Given the description of an element on the screen output the (x, y) to click on. 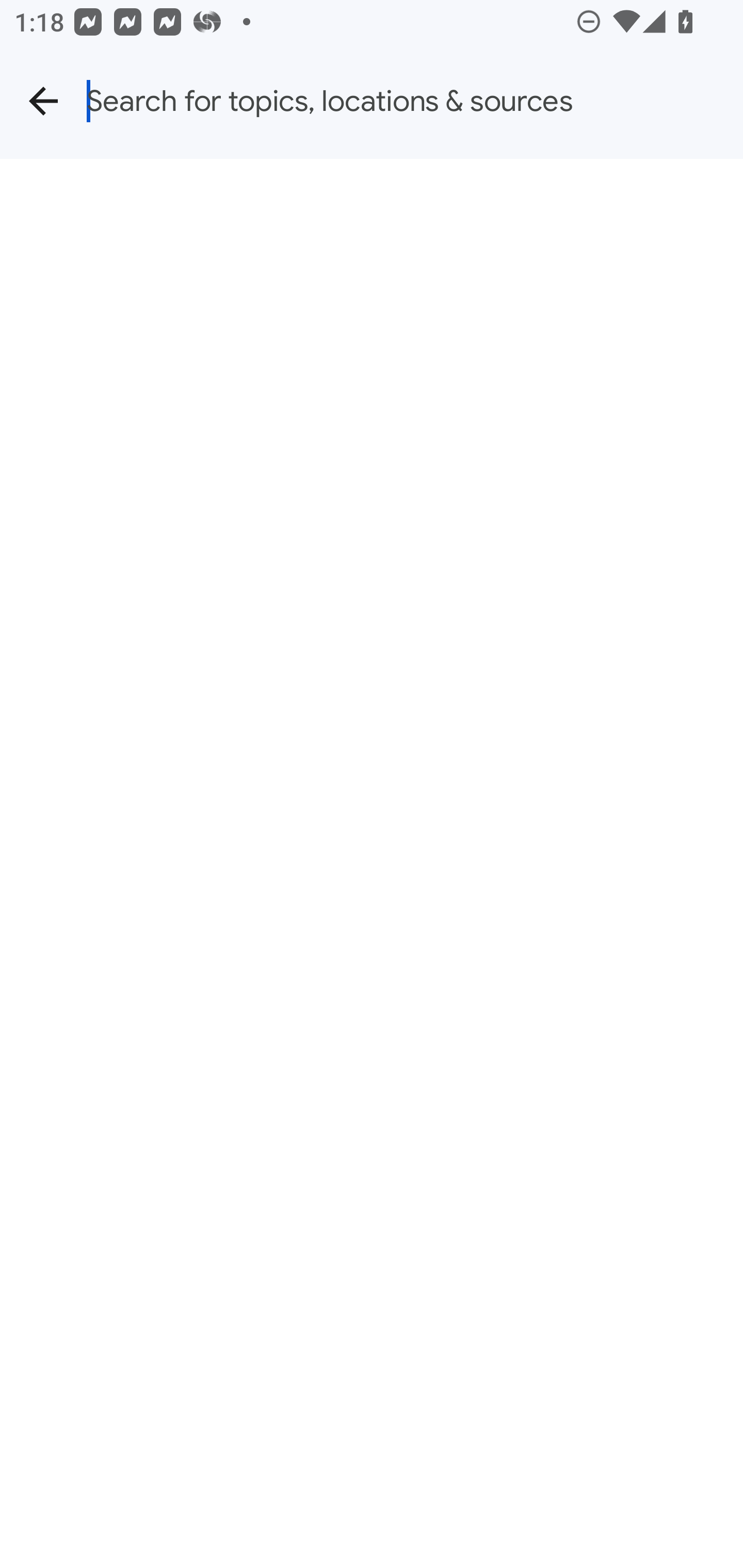
Back (43, 101)
Search for topics, locations & sources (414, 101)
